Given the description of an element on the screen output the (x, y) to click on. 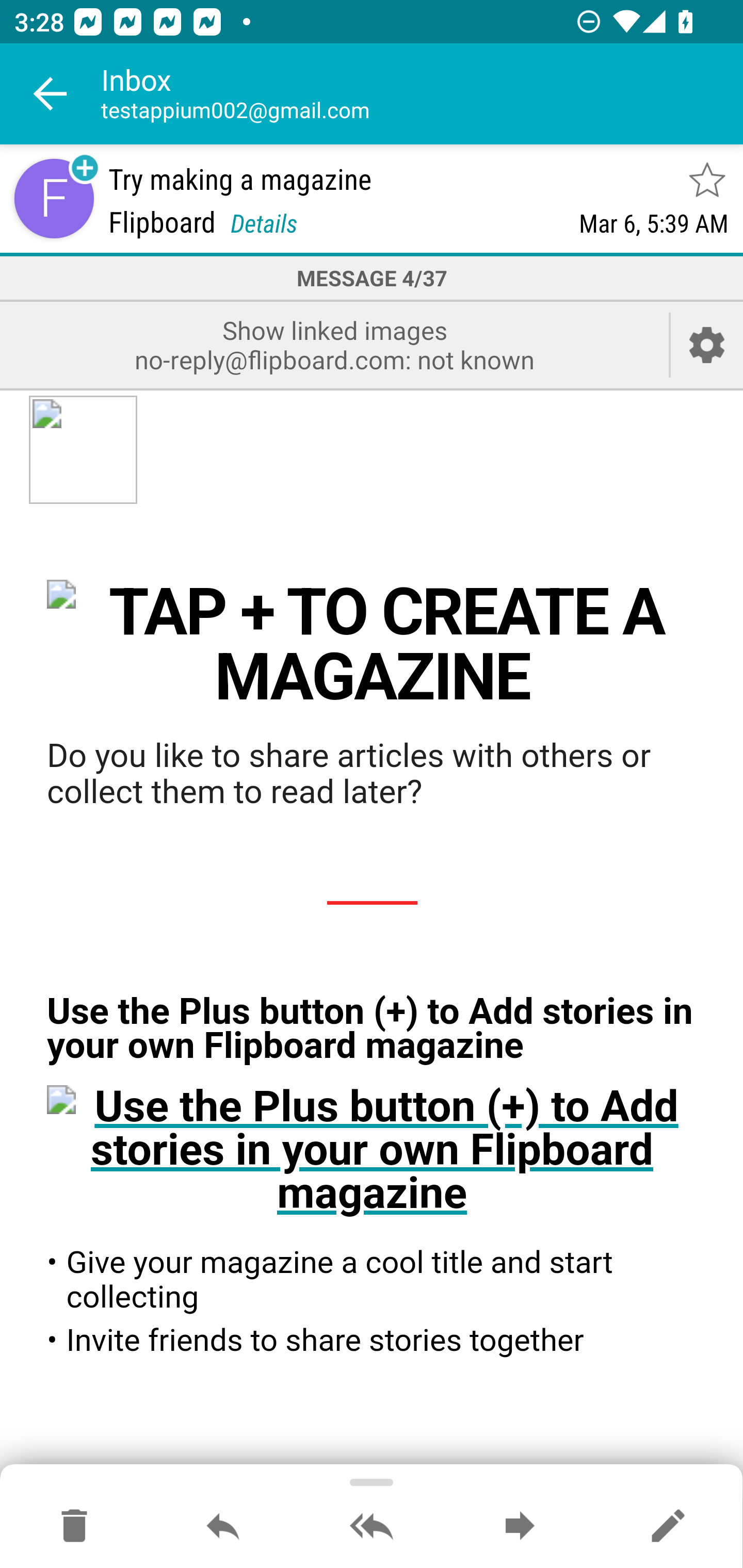
Navigate up (50, 93)
Inbox testappium002@gmail.com (422, 93)
Sender contact button (53, 198)
Account setup (706, 344)
Move to Deleted (74, 1527)
Reply (222, 1527)
Reply all (371, 1527)
Forward (519, 1527)
Reply as new (667, 1527)
